Given the description of an element on the screen output the (x, y) to click on. 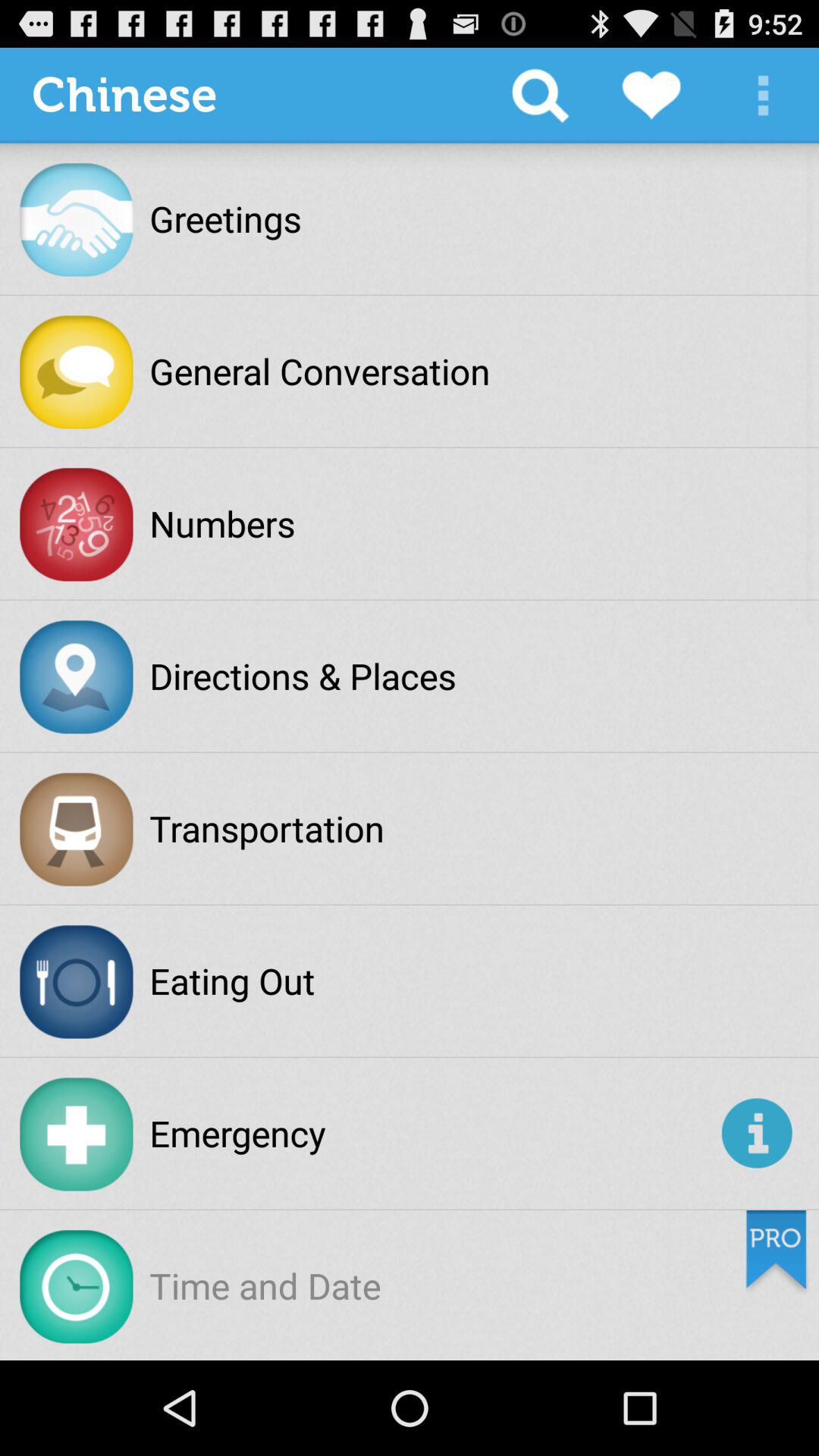
select app above general conversation (540, 95)
